Given the description of an element on the screen output the (x, y) to click on. 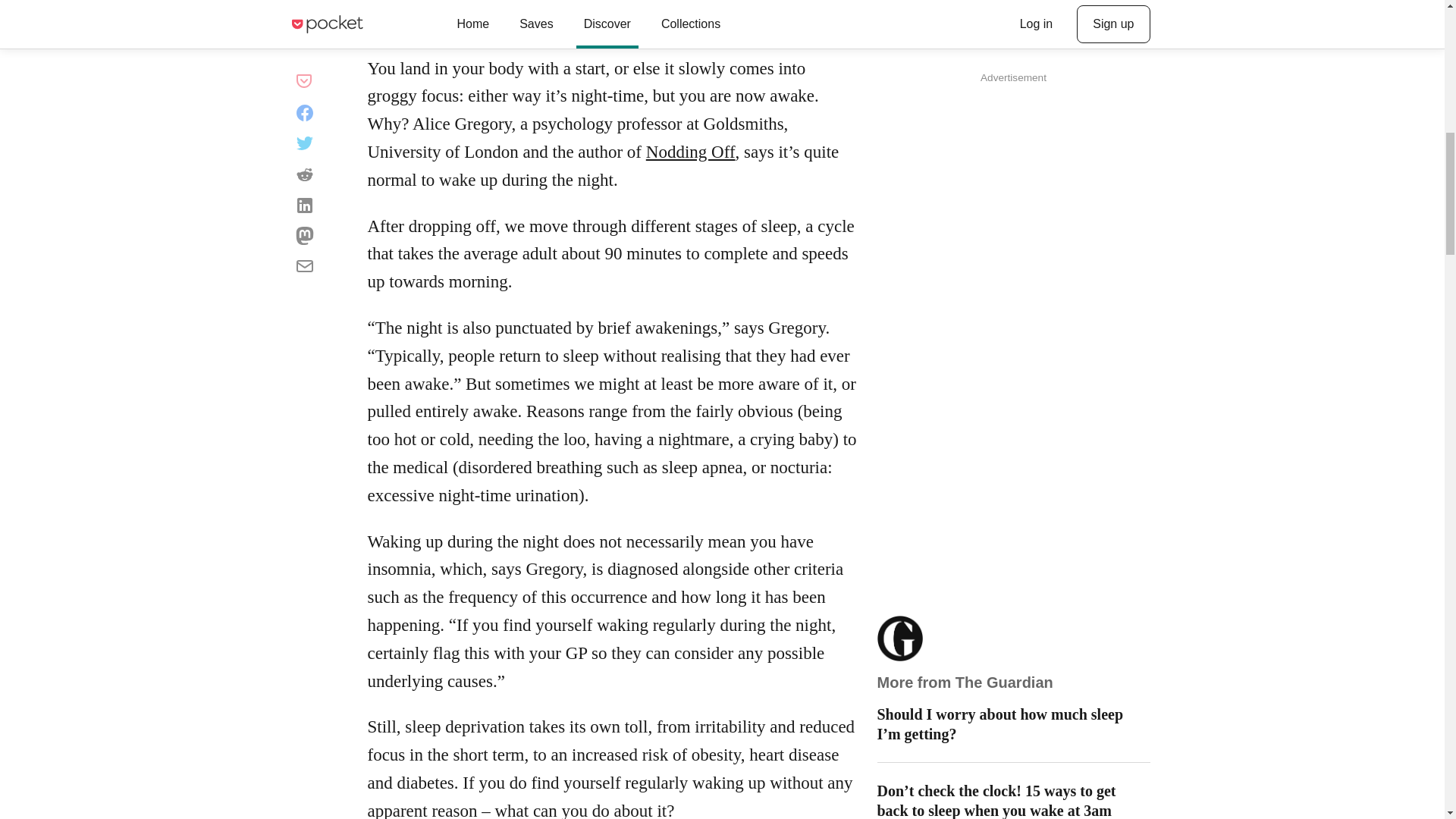
Nodding Off (690, 151)
